Given the description of an element on the screen output the (x, y) to click on. 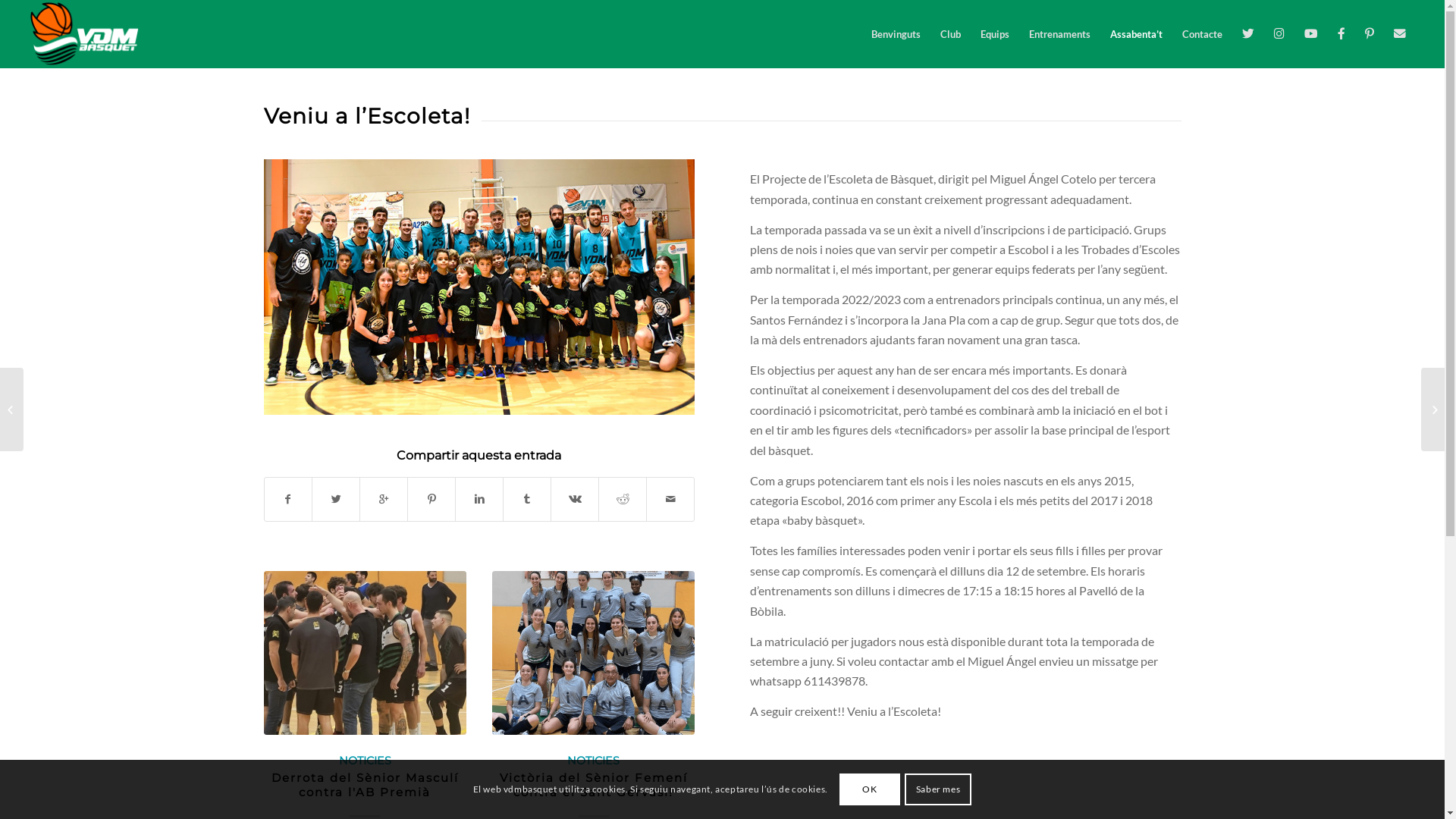
NOTICIES Element type: text (593, 760)
Mail Element type: text (1399, 34)
vdmbasquet_escoleta-foto-noticia Element type: hover (479, 286)
Instagram Element type: text (1279, 34)
NOTICIES Element type: text (364, 760)
Club Element type: text (950, 34)
Facebook Element type: text (1341, 34)
Benvinguts Element type: text (895, 34)
Equips Element type: text (994, 34)
OK Element type: text (869, 789)
Saber mes Element type: text (938, 789)
Pinterest Element type: text (1369, 34)
Twitter Element type: text (1248, 34)
Entrenaments Element type: text (1059, 34)
Contacte Element type: text (1202, 34)
Youtube Element type: text (1310, 34)
